Given the description of an element on the screen output the (x, y) to click on. 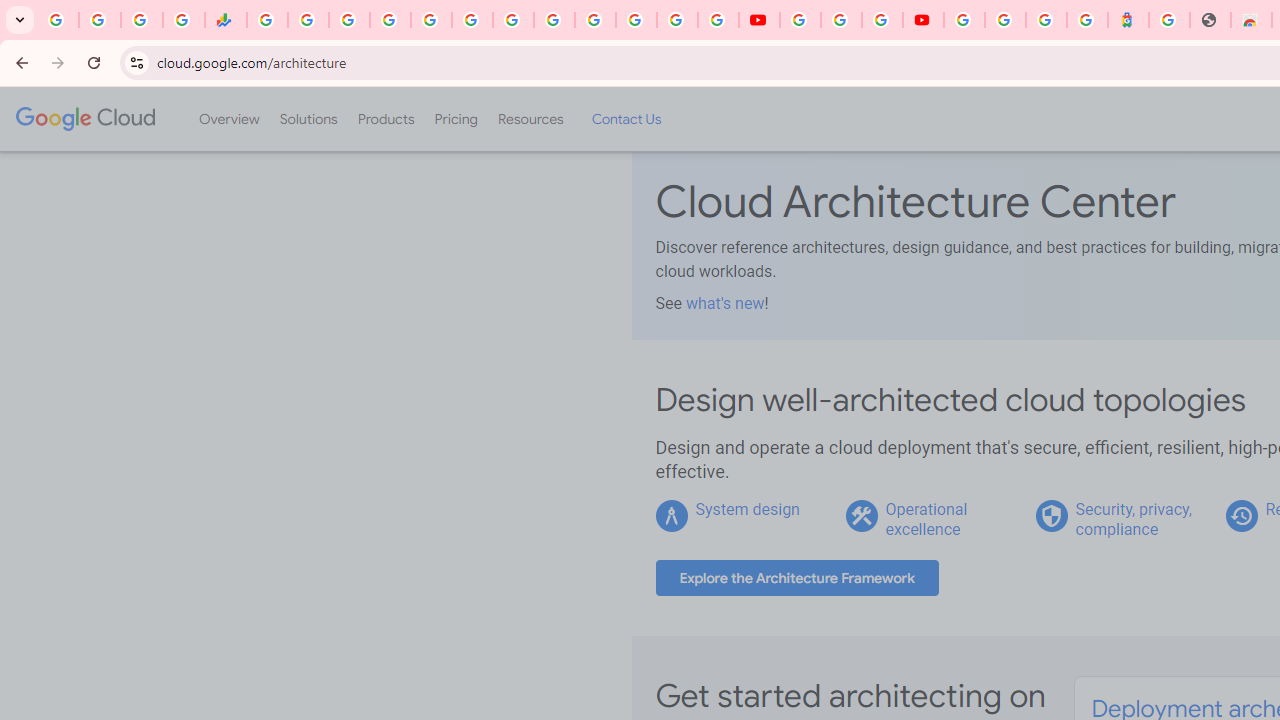
Resources (530, 119)
Pricing (455, 119)
Atour Hotel - Google hotels (1128, 20)
